Given the description of an element on the screen output the (x, y) to click on. 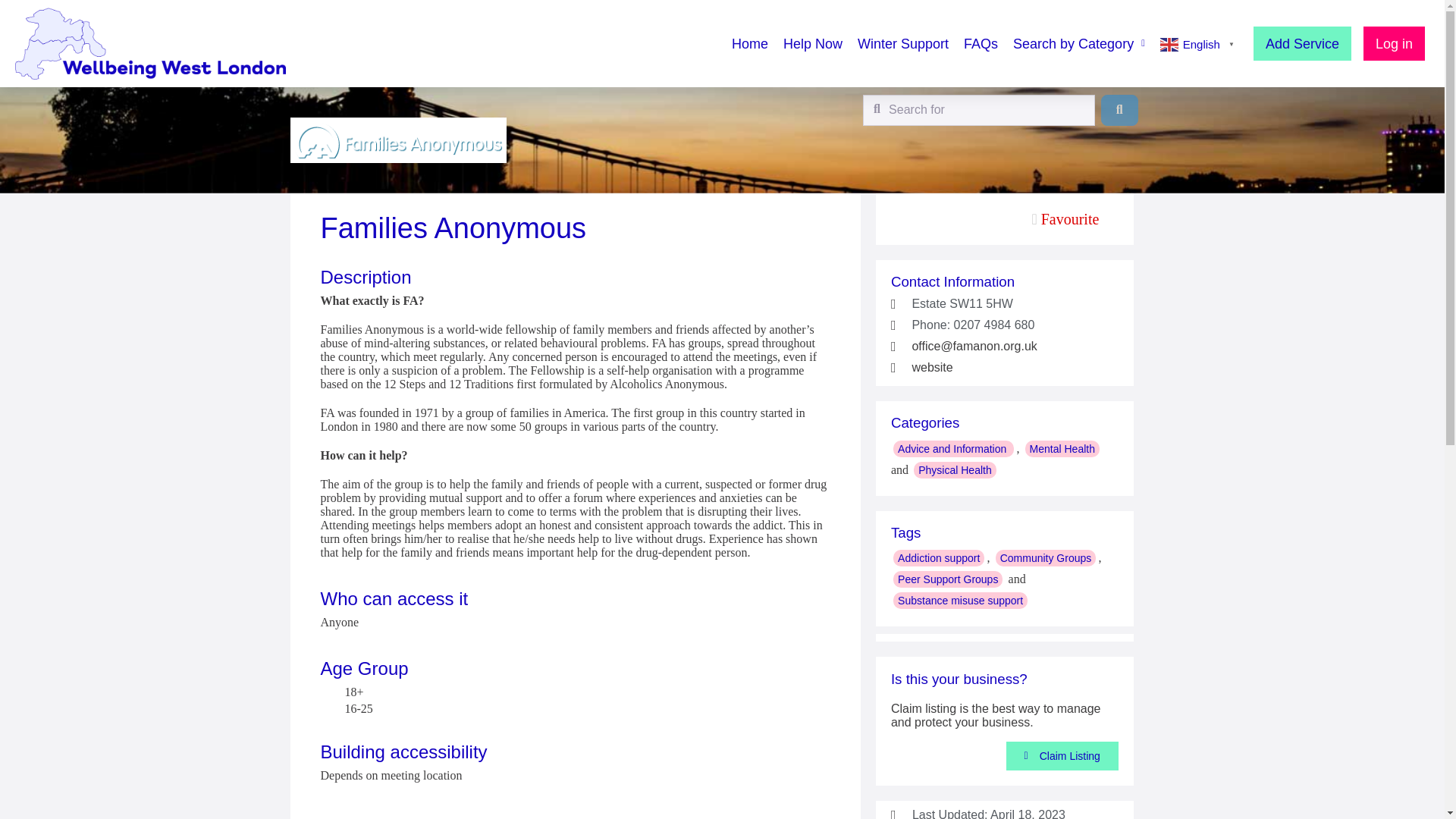
Log in (1393, 43)
FAQs (980, 43)
Search by Category (1078, 43)
Winter Support (903, 43)
Home (750, 43)
Help Now (813, 43)
Add Service (1302, 43)
